Given the description of an element on the screen output the (x, y) to click on. 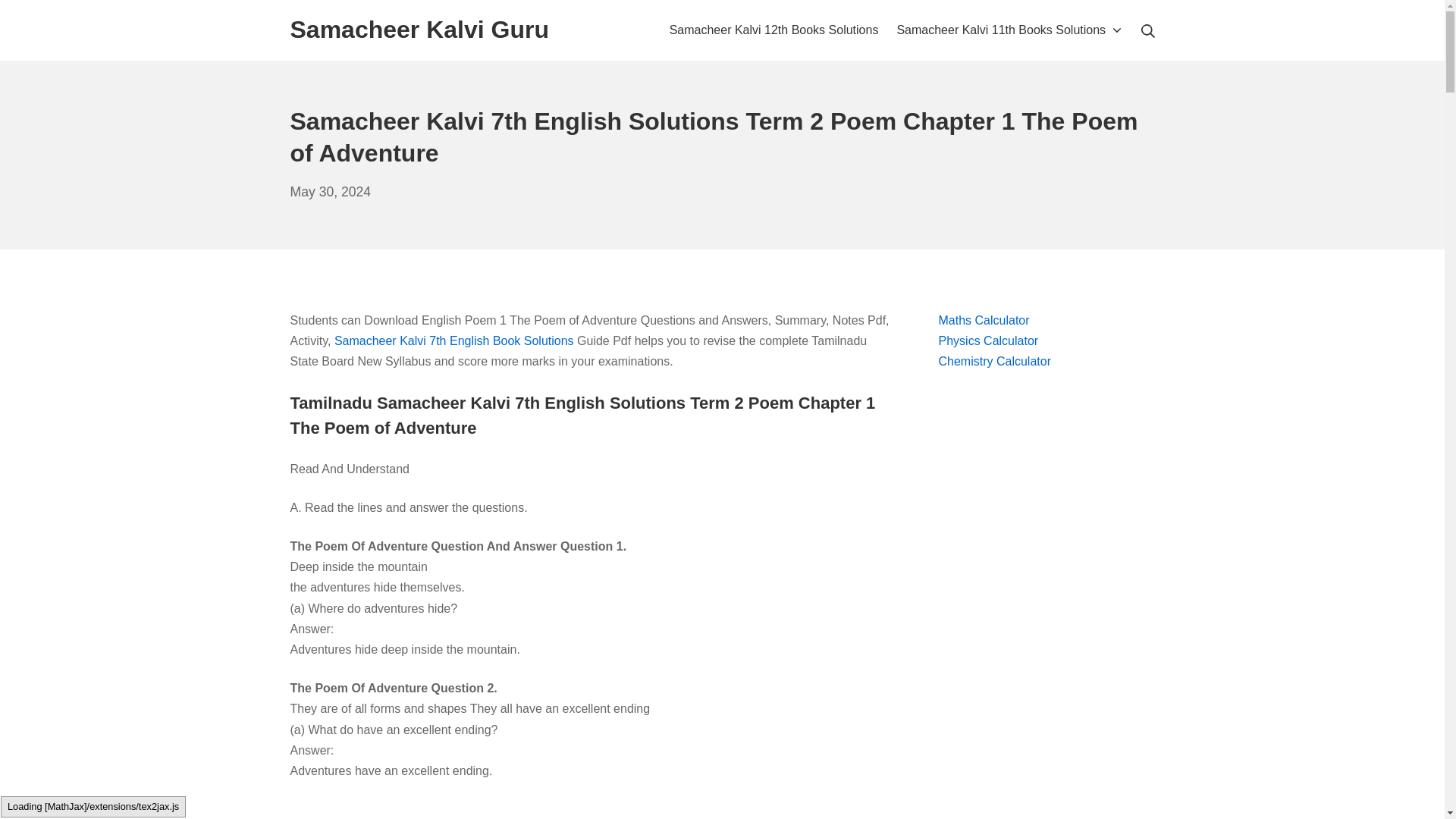
Search (35, 15)
Physics Calculator (989, 340)
Maths Calculator (984, 319)
Samacheer Kalvi Guru (330, 191)
Chemistry Calculator (418, 29)
Samacheer Kalvi 12th Books Solutions (995, 360)
Samacheer Kalvi 11th Books Solutions (774, 29)
Samacheer Kalvi 7th English Book Solutions (1009, 29)
